Given the description of an element on the screen output the (x, y) to click on. 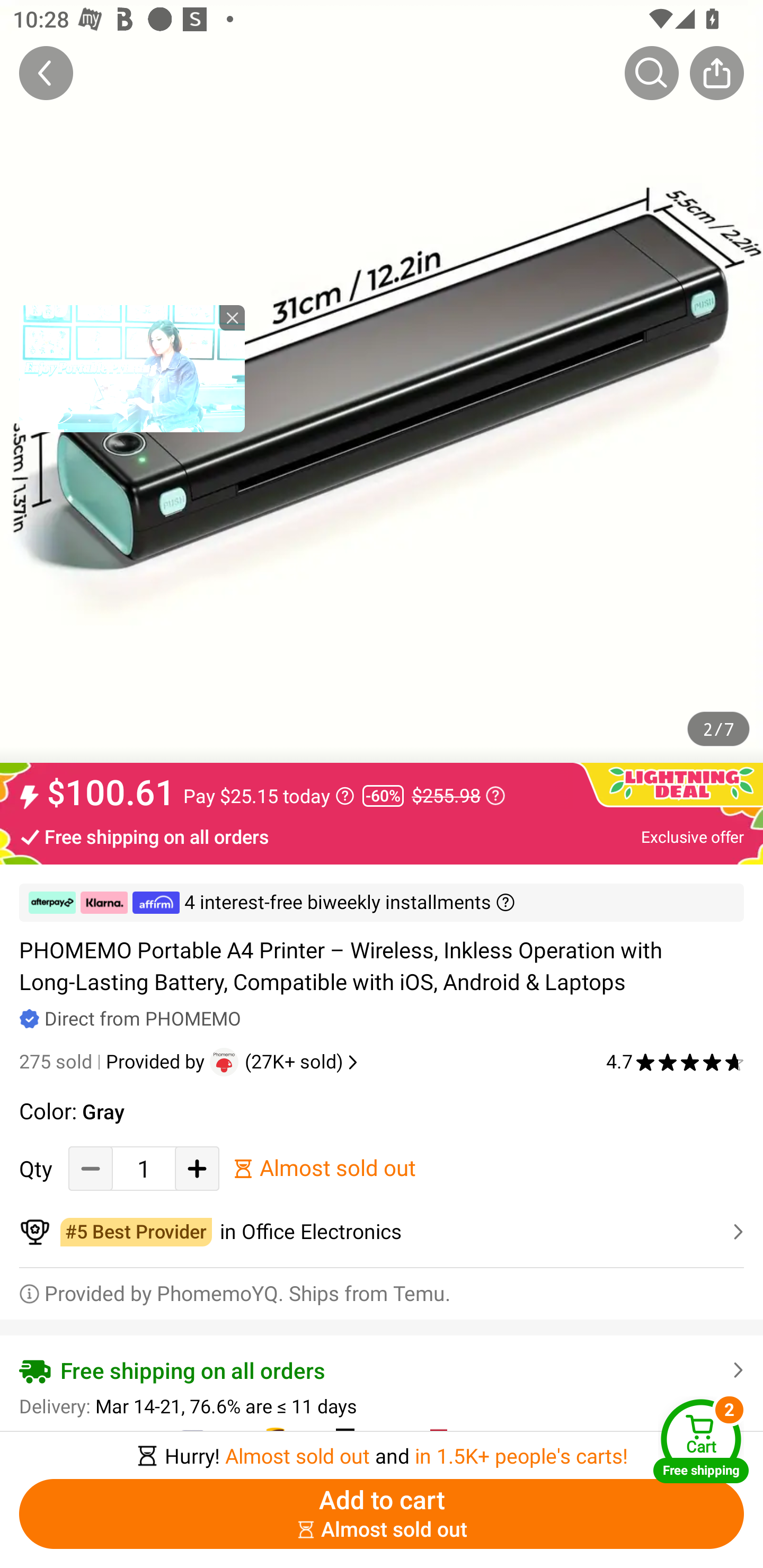
Back (46, 72)
Share (716, 72)
tronplayer_view (131, 368)
Pay $25.15 today   (268, 795)
Free shipping on all orders Exclusive offer (381, 836)
￼ ￼ ￼ 4 interest-free biweekly installments ￼ (381, 902)
4.7 (674, 1061)
Decrease Quantity Button (90, 1168)
1 (143, 1168)
Add Quantity button (196, 1168)
￼￼in Office Electronics (381, 1231)
Cart Free shipping Cart (701, 1440)
Add to cart ￼￼Almost sold out (381, 1513)
